Given the description of an element on the screen output the (x, y) to click on. 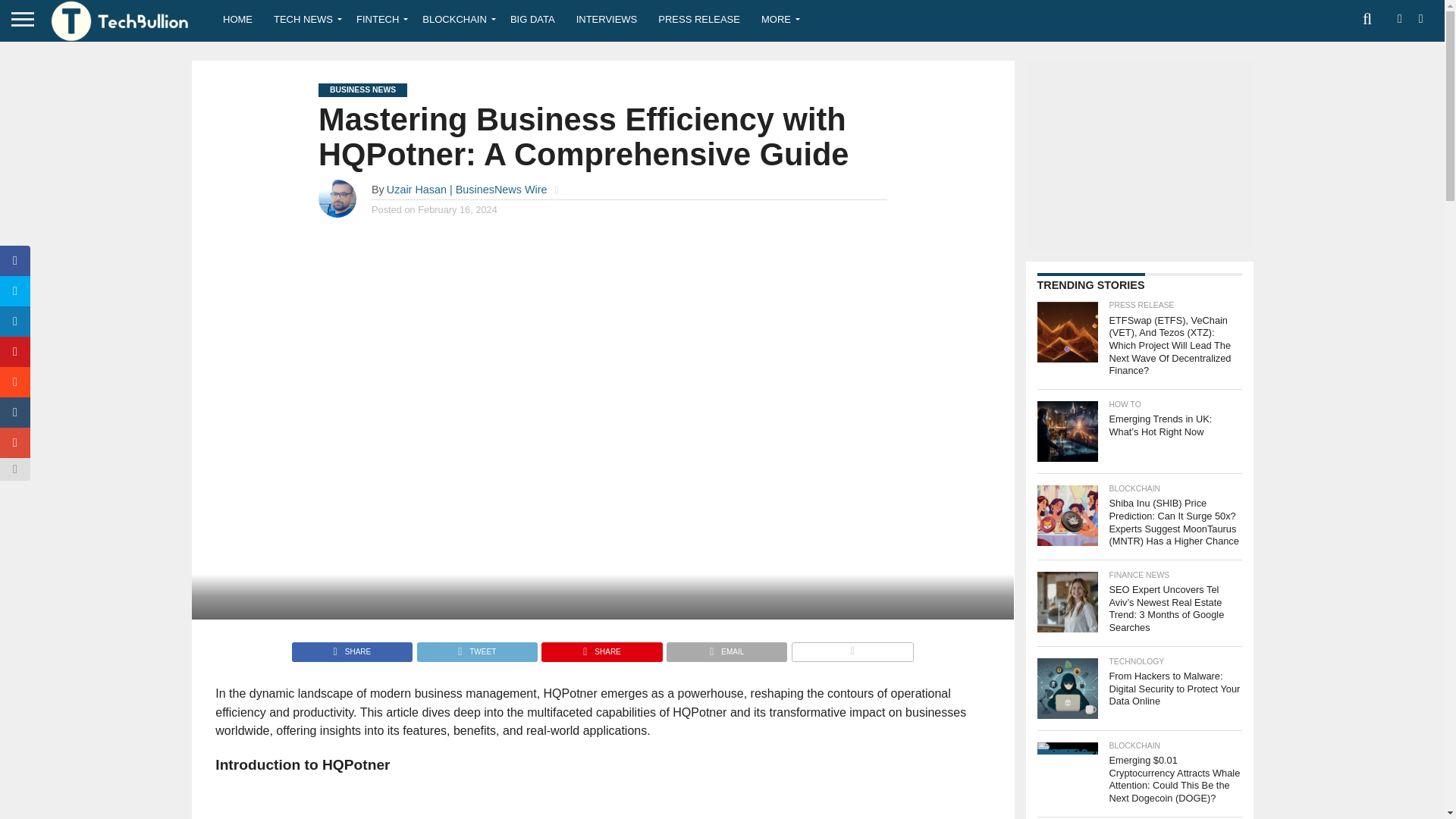
Pin This Post (601, 647)
Tweet This Post (476, 647)
Share on Facebook (352, 647)
